Given the description of an element on the screen output the (x, y) to click on. 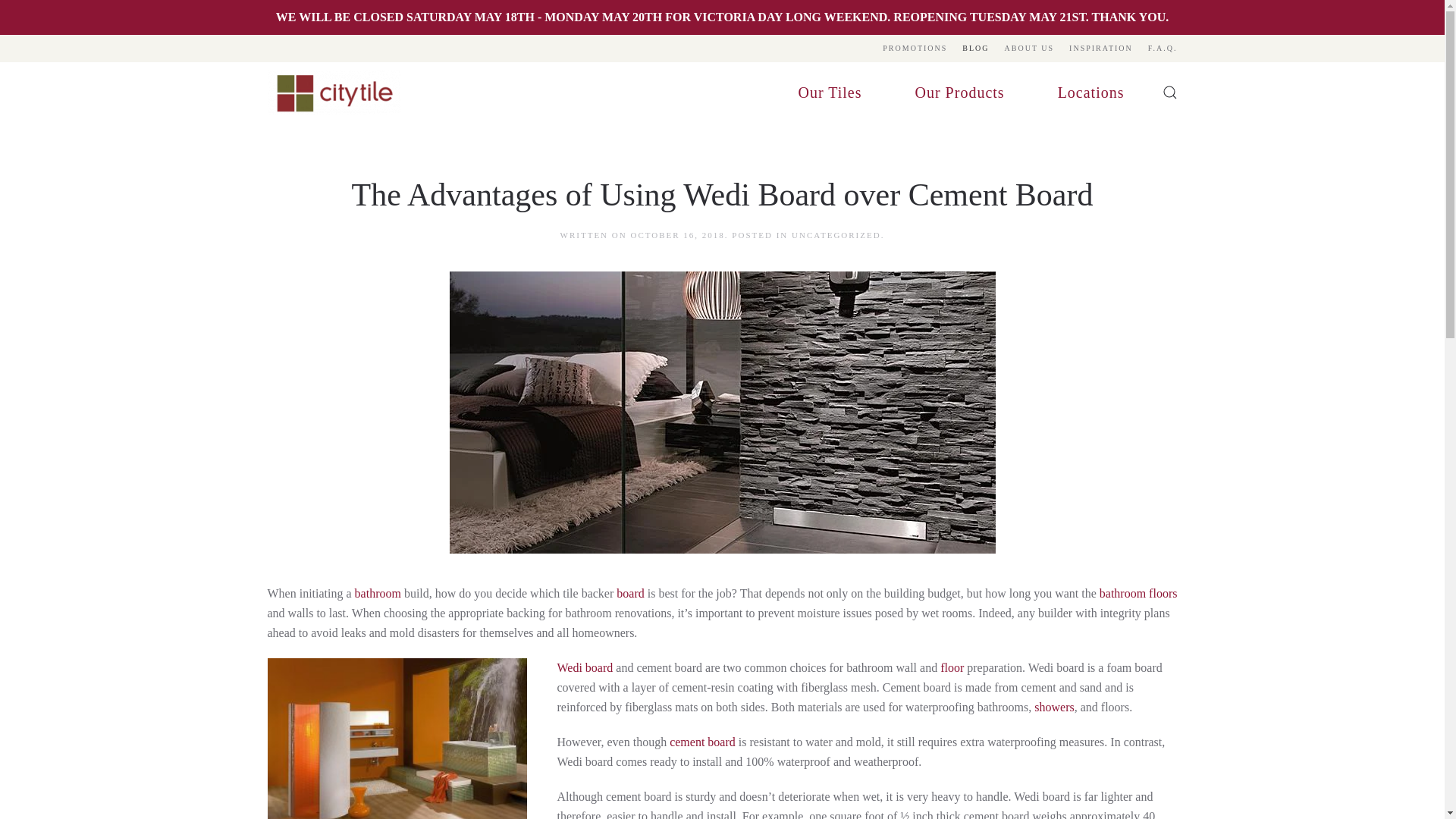
Locations (1091, 92)
F.A.Q. (1162, 48)
ABOUT US (1029, 48)
PROMOTIONS (914, 48)
INSPIRATION (1100, 48)
Our Products (959, 92)
UNCATEGORIZED (836, 234)
bathroom (378, 593)
Our Tiles (829, 92)
BLOG (975, 48)
